Given the description of an element on the screen output the (x, y) to click on. 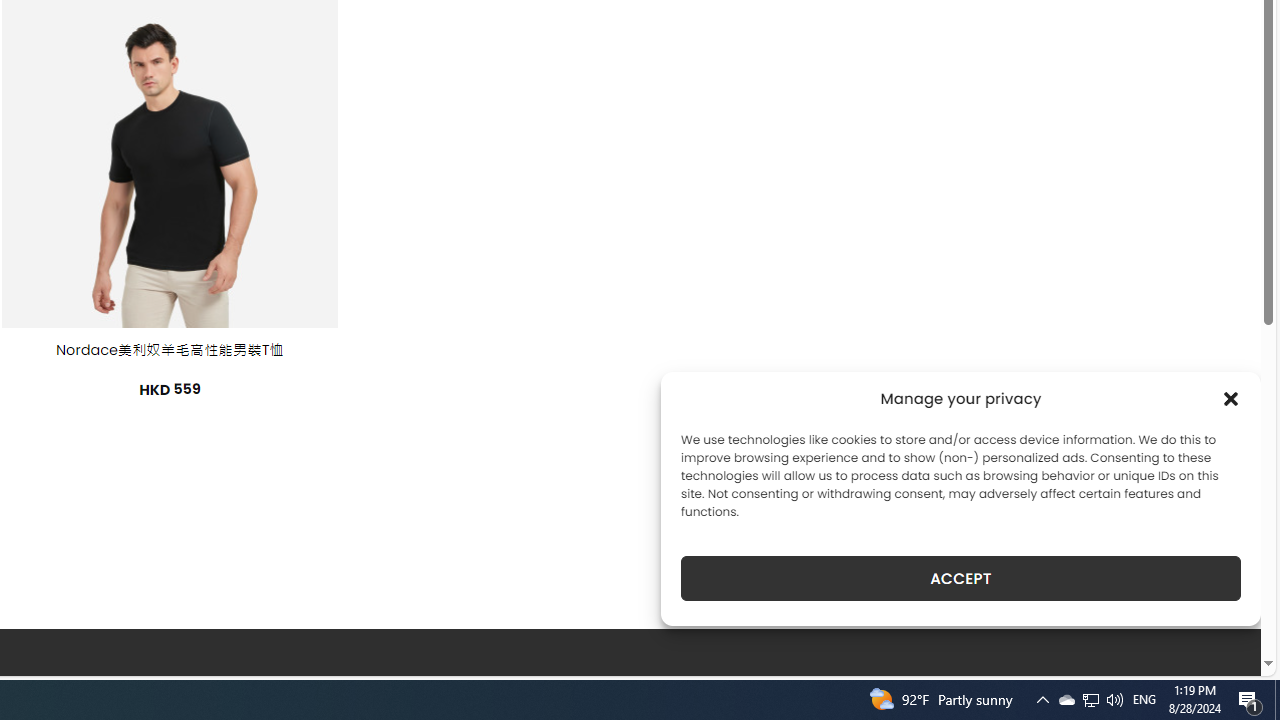
Class: cmplz-close (1231, 398)
ACCEPT (960, 578)
Go to top (1220, 647)
